Given the description of an element on the screen output the (x, y) to click on. 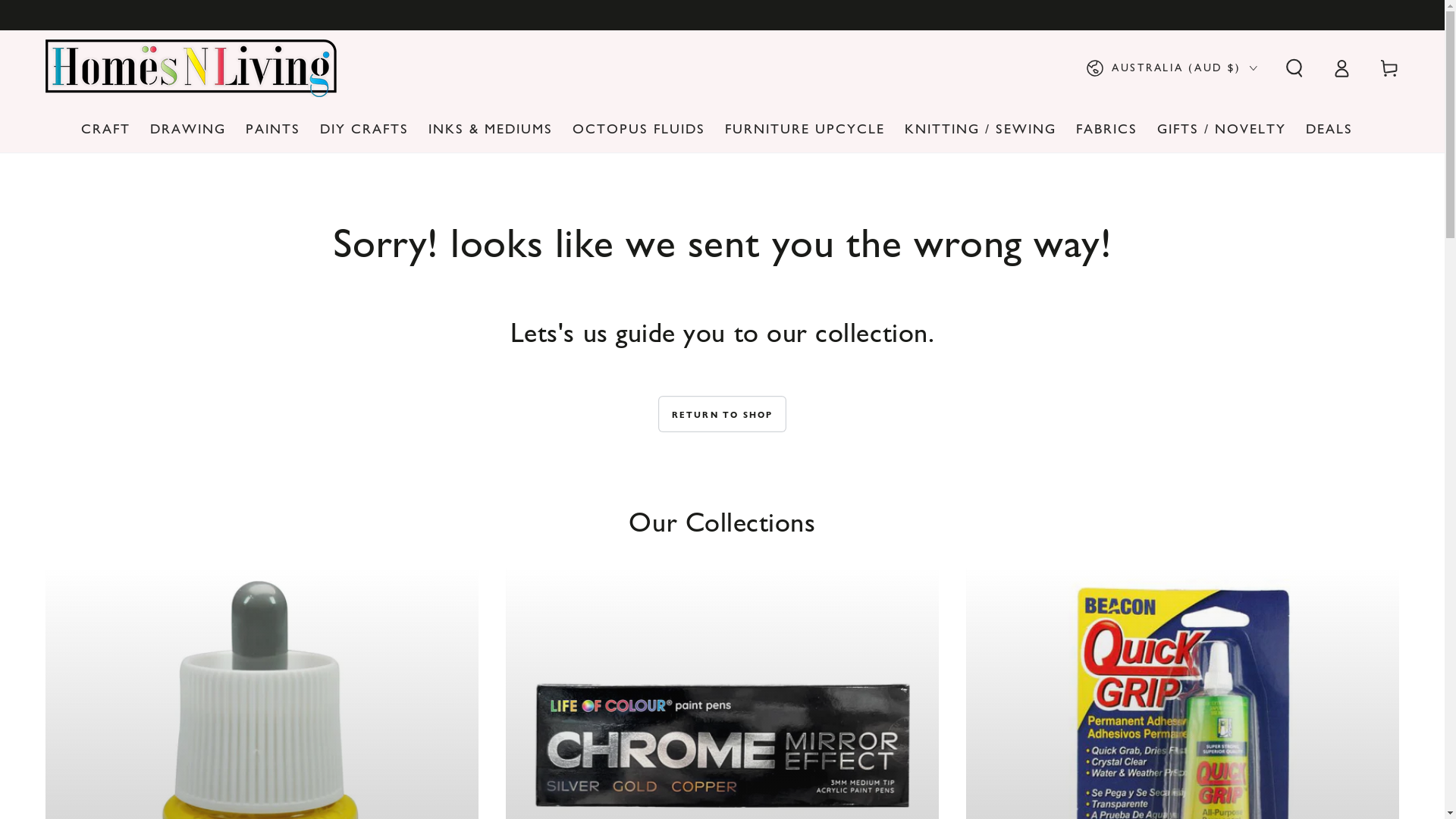
PAINTS Element type: text (272, 128)
DIY CRAFTS Element type: text (363, 128)
DRAWING Element type: text (188, 128)
KNITTING / SEWING Element type: text (980, 128)
CRAFT Element type: text (105, 128)
DEALS Element type: text (1328, 128)
FABRICS Element type: text (1106, 128)
Log in Element type: text (1341, 68)
AUSTRALIA (AUD $) Element type: text (1170, 68)
OCTOPUS FLUIDS Element type: text (638, 128)
GIFTS / NOVELTY Element type: text (1221, 128)
FURNITURE UPCYCLE Element type: text (804, 128)
RETURN TO SHOP Element type: text (722, 413)
INKS & MEDIUMS Element type: text (490, 128)
